Given the description of an element on the screen output the (x, y) to click on. 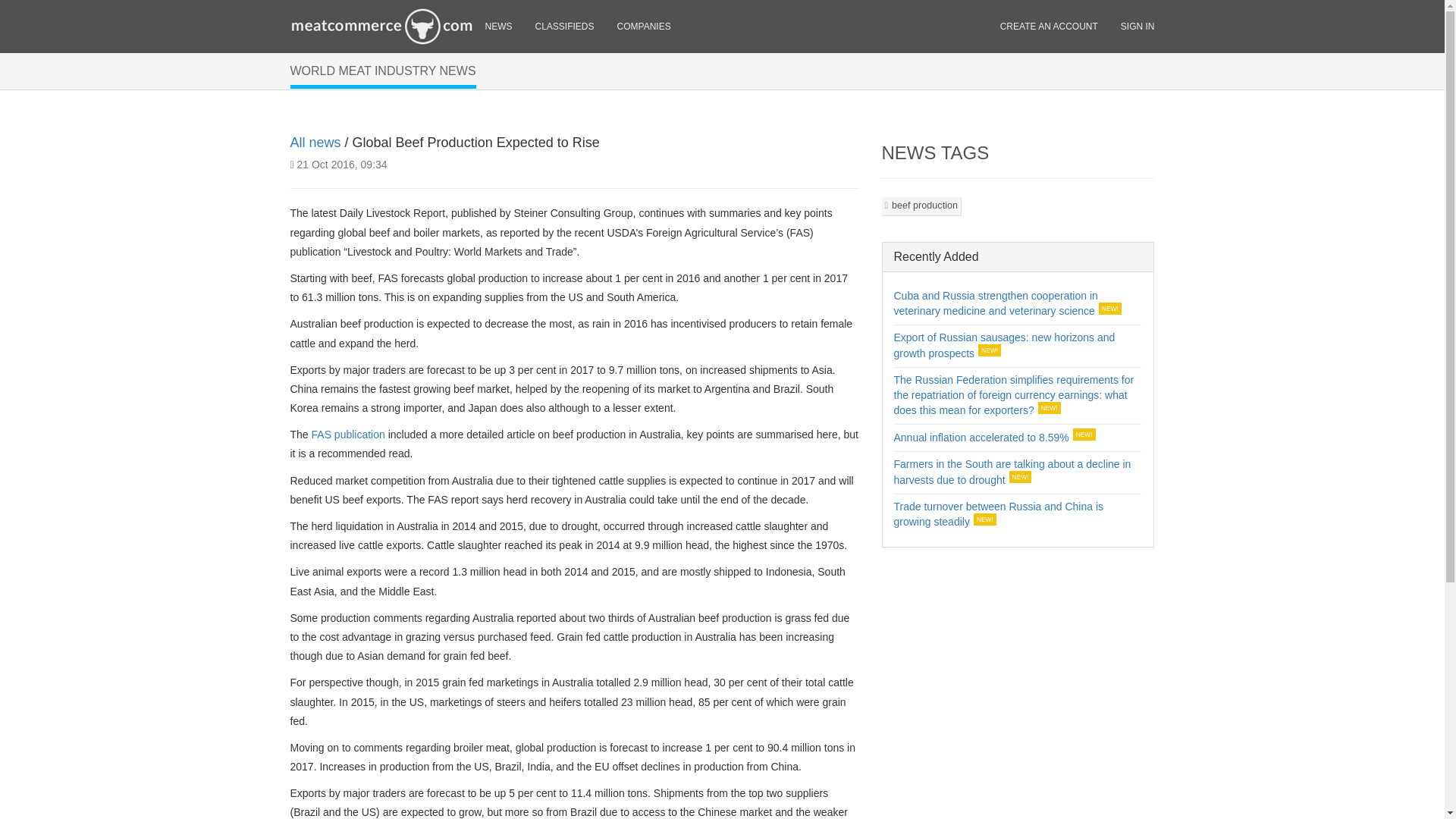
COMPANIES (643, 26)
FAS publication (348, 434)
SIGN IN (1137, 26)
NEWS (497, 26)
Trade turnover between Russia and China is growing steadily (998, 514)
beef production (920, 206)
All news (314, 142)
CLASSIFIEDS (563, 26)
CREATE AN ACCOUNT (1048, 26)
